Given the description of an element on the screen output the (x, y) to click on. 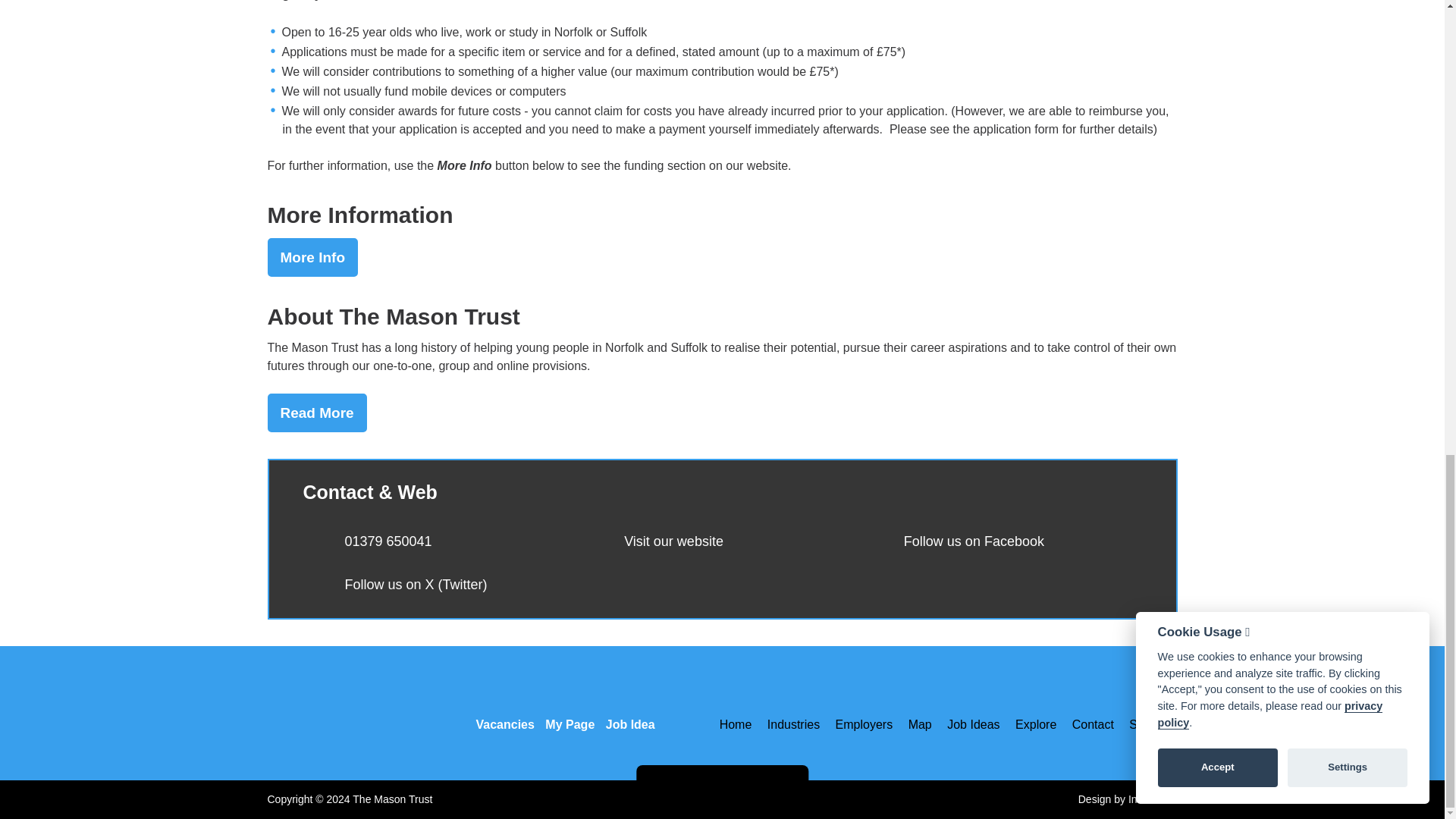
Vacancies (504, 711)
Home (738, 724)
Job Idea (630, 711)
Visit our website (673, 540)
My Page (569, 711)
Industries (793, 724)
Read More (316, 412)
Follow us on Facebook (973, 540)
More Info (312, 256)
01379 650041 (386, 540)
